Given the description of an element on the screen output the (x, y) to click on. 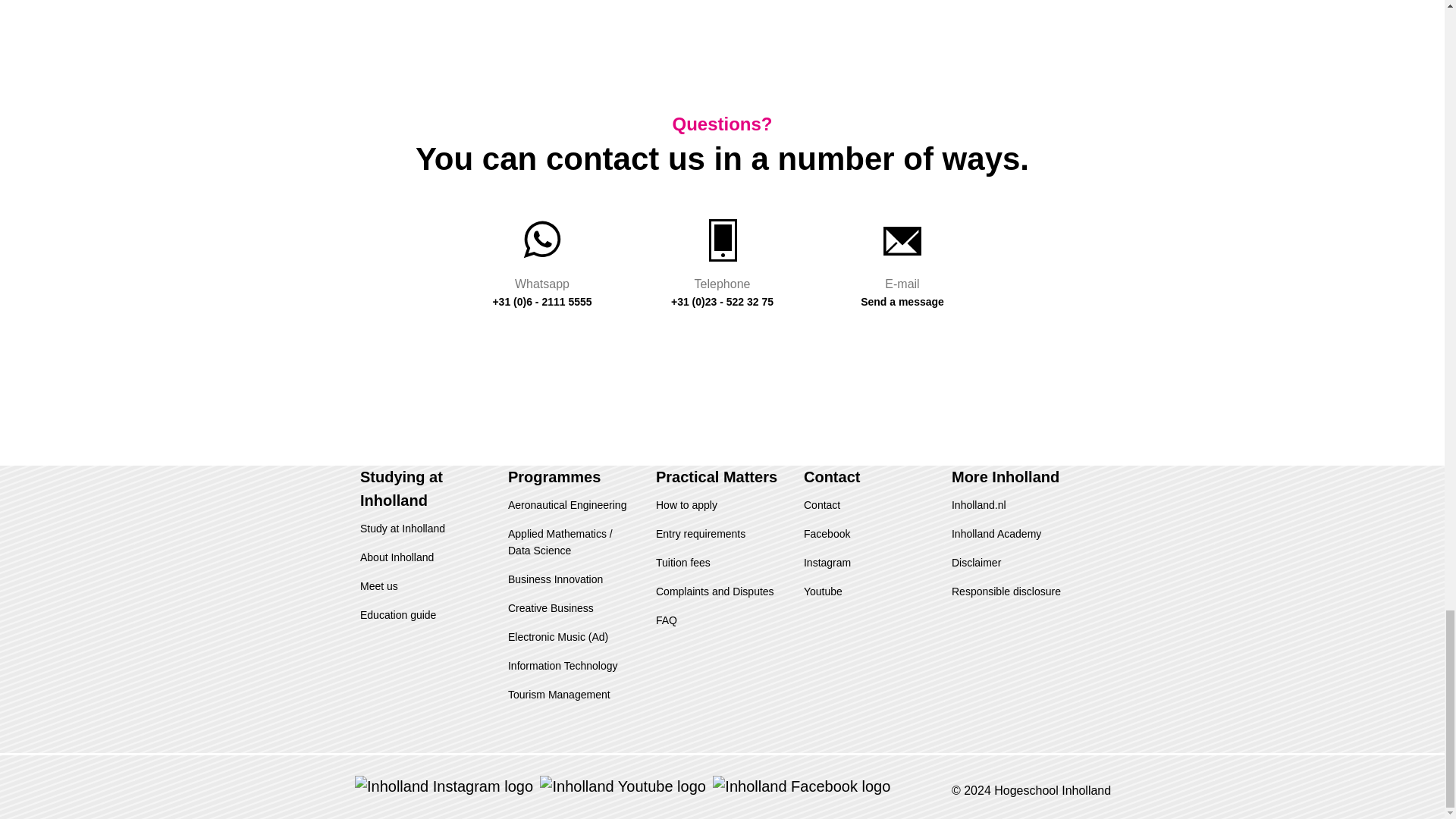
About Inholland (396, 557)
Aeronautical Engineering (567, 504)
Study at Inholland (402, 528)
Inholland Facebook (801, 784)
Studying at Inholland (400, 488)
E-mail Send a message (902, 259)
Business Innovation (555, 579)
Education guide (397, 614)
Meet us (378, 585)
Programmes (553, 476)
